Given the description of an element on the screen output the (x, y) to click on. 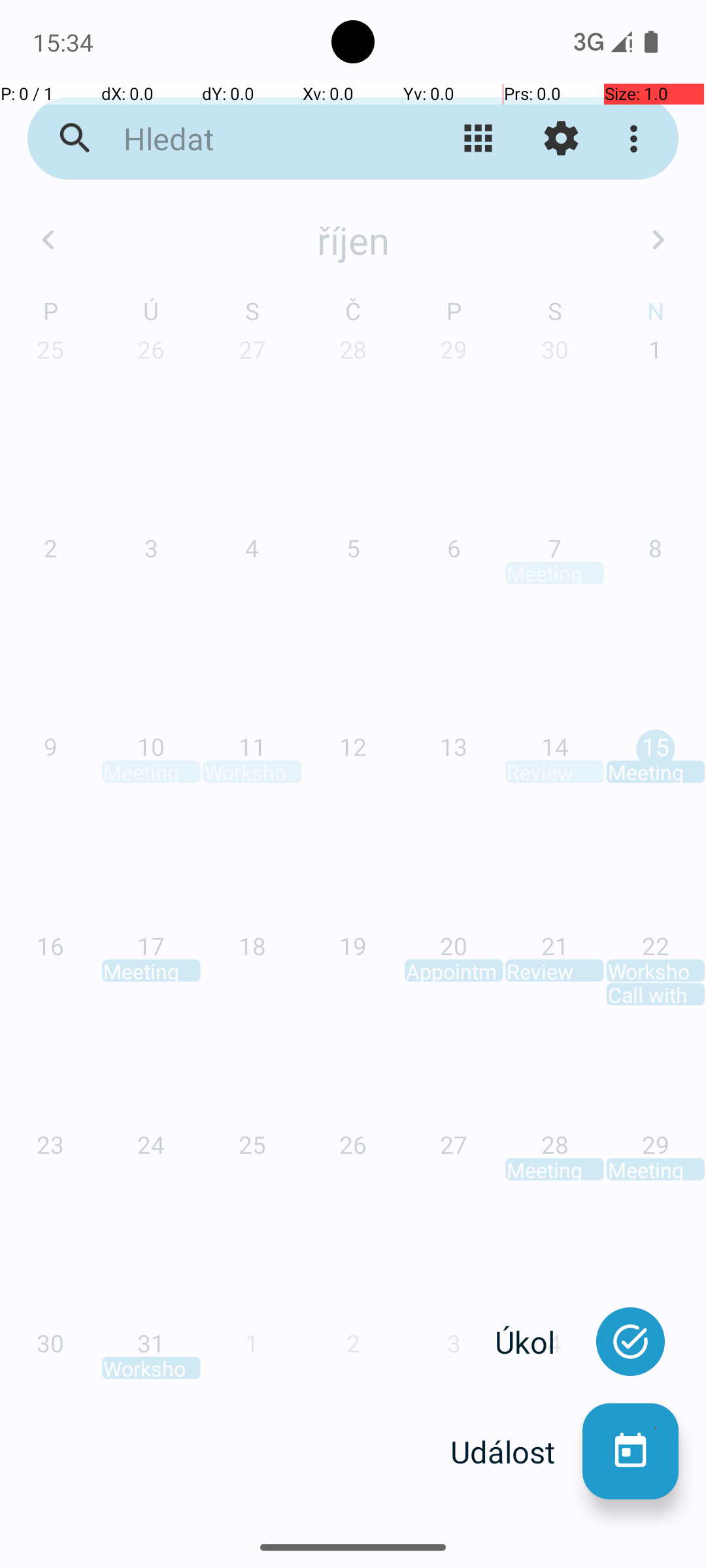
Hledat Element type: android.widget.EditText (252, 138)
Změnit zobrazení Element type: android.widget.Button (477, 138)
Nastavení Element type: android.widget.Button (560, 138)
Další možnosti Element type: android.widget.ImageView (636, 138)
Úkol Element type: android.widget.TextView (538, 1341)
Událost Element type: android.widget.TextView (516, 1451)
Nová událost Element type: android.widget.ImageButton (630, 1451)
říjen Element type: android.widget.TextView (352, 239)
